Given the description of an element on the screen output the (x, y) to click on. 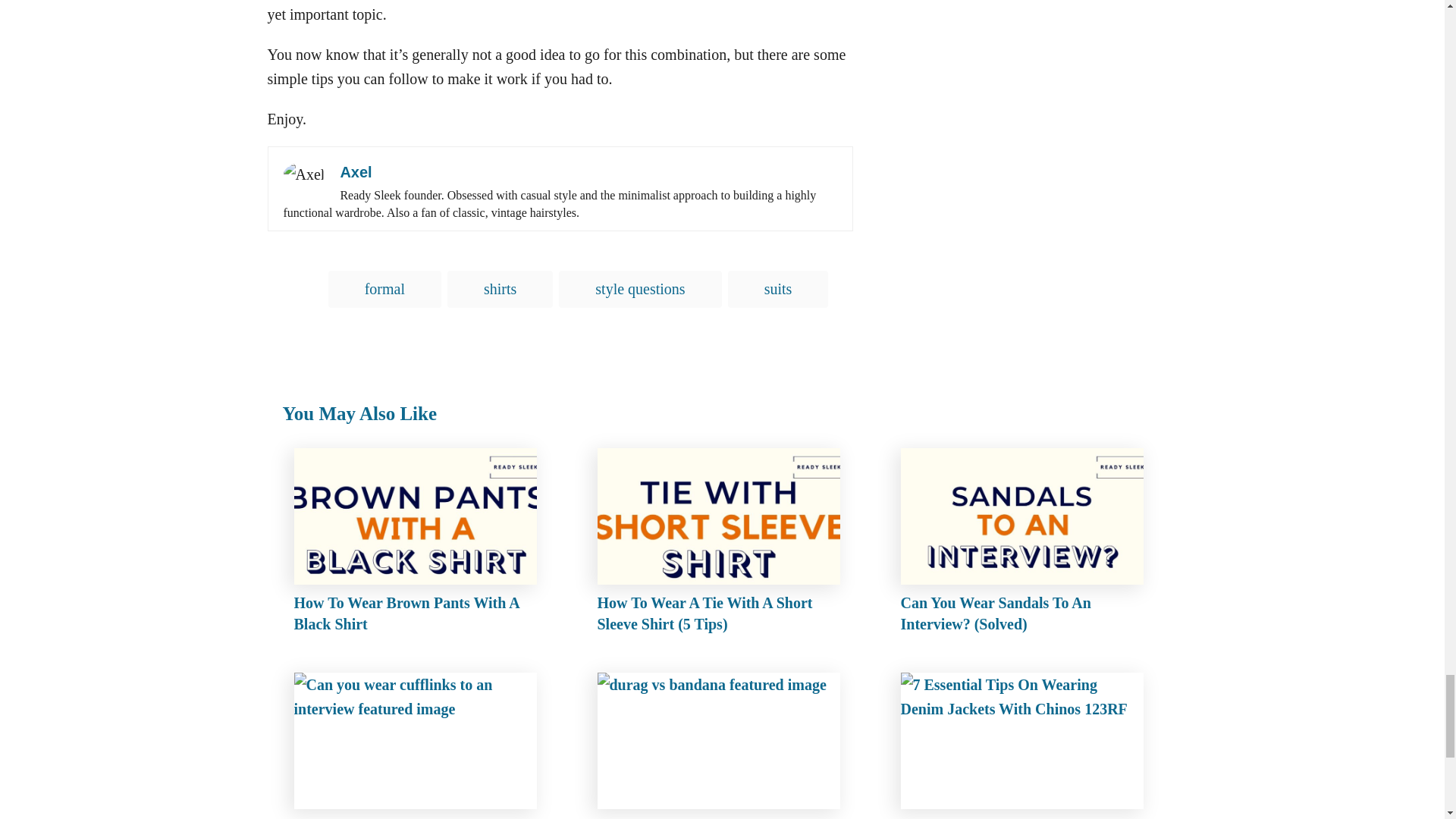
formal (385, 289)
Axel (355, 171)
How To Wear Brown Pants With A Black Shirt (419, 544)
style questions (639, 289)
shirts (499, 289)
suits (778, 289)
7 Essential Tips On Wearing Denim Jackets With Chinos (1026, 745)
How To Wear Brown Pants With A Black Shirt (419, 544)
Durag Vs Bandana: Differences And How To Choose (721, 745)
